Given the description of an element on the screen output the (x, y) to click on. 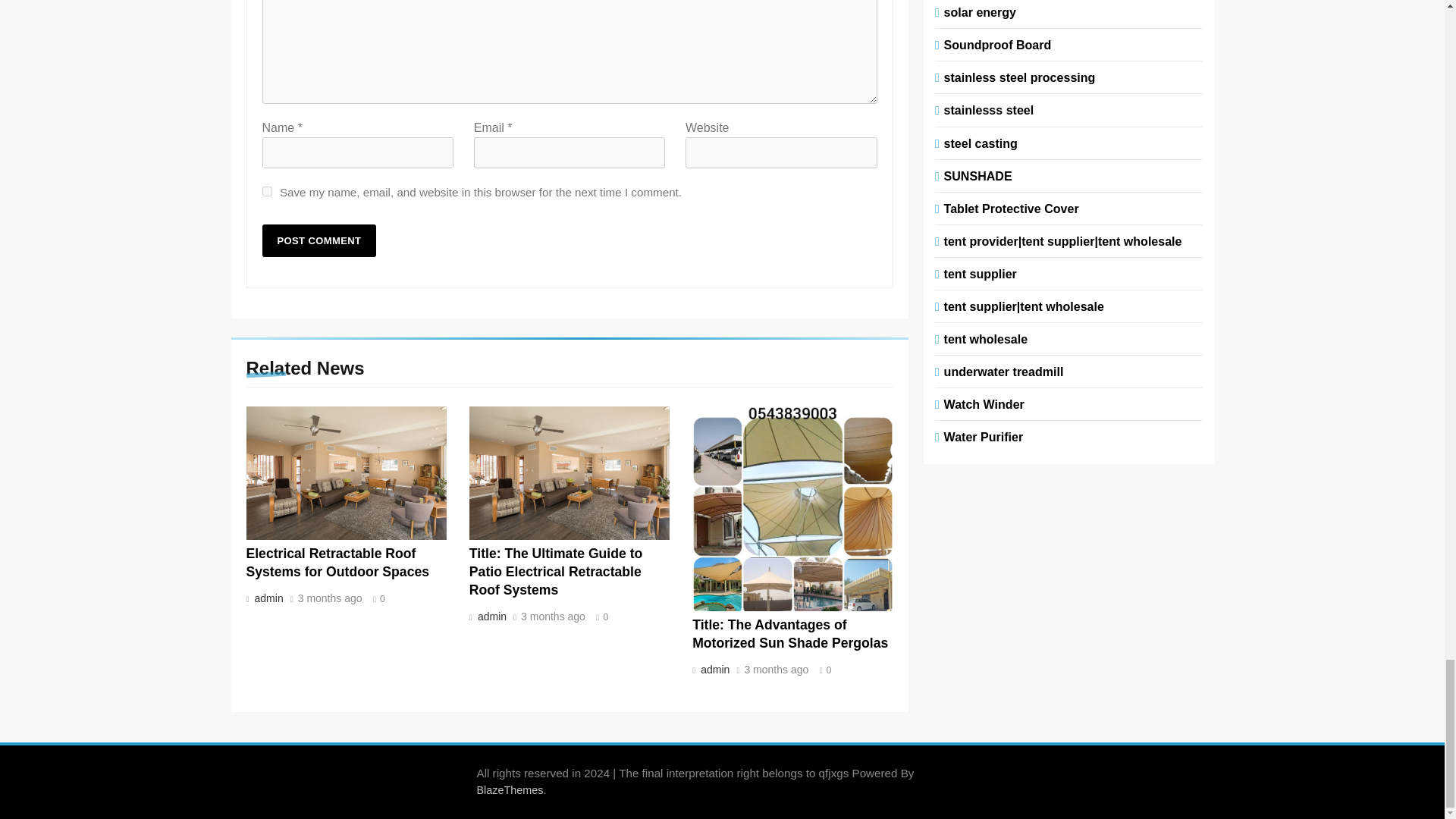
Title: The Advantages of Motorized Sun Shade Pergolas (790, 633)
Electrical Retractable Roof Systems for Outdoor Spaces (337, 562)
Post Comment (319, 240)
3 months ago (330, 598)
Post Comment (319, 240)
3 months ago (553, 616)
admin (490, 616)
3 months ago (776, 670)
admin (714, 669)
admin (267, 598)
yes (267, 191)
